Given the description of an element on the screen output the (x, y) to click on. 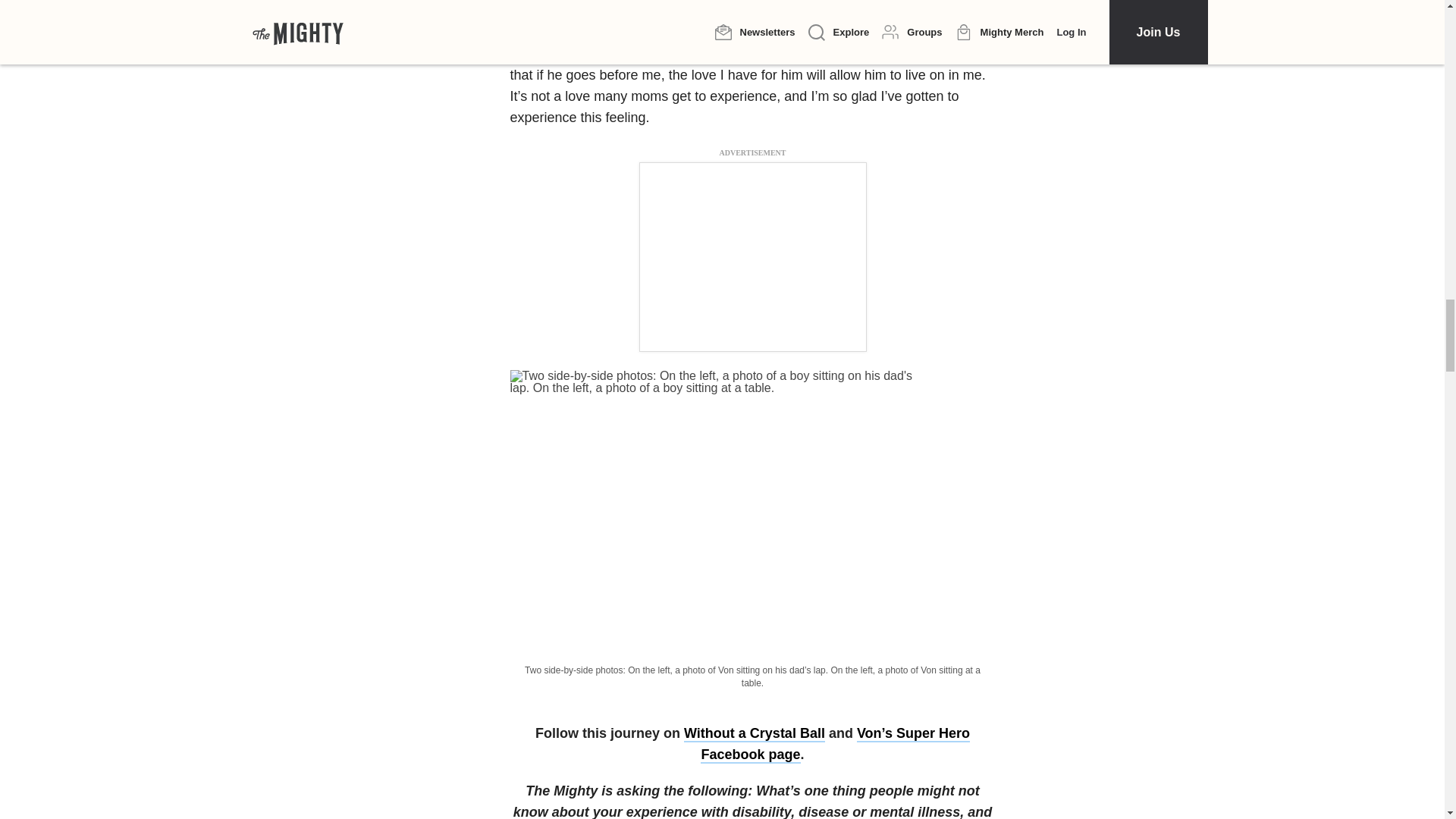
Without a Crystal Ball (754, 733)
